Given the description of an element on the screen output the (x, y) to click on. 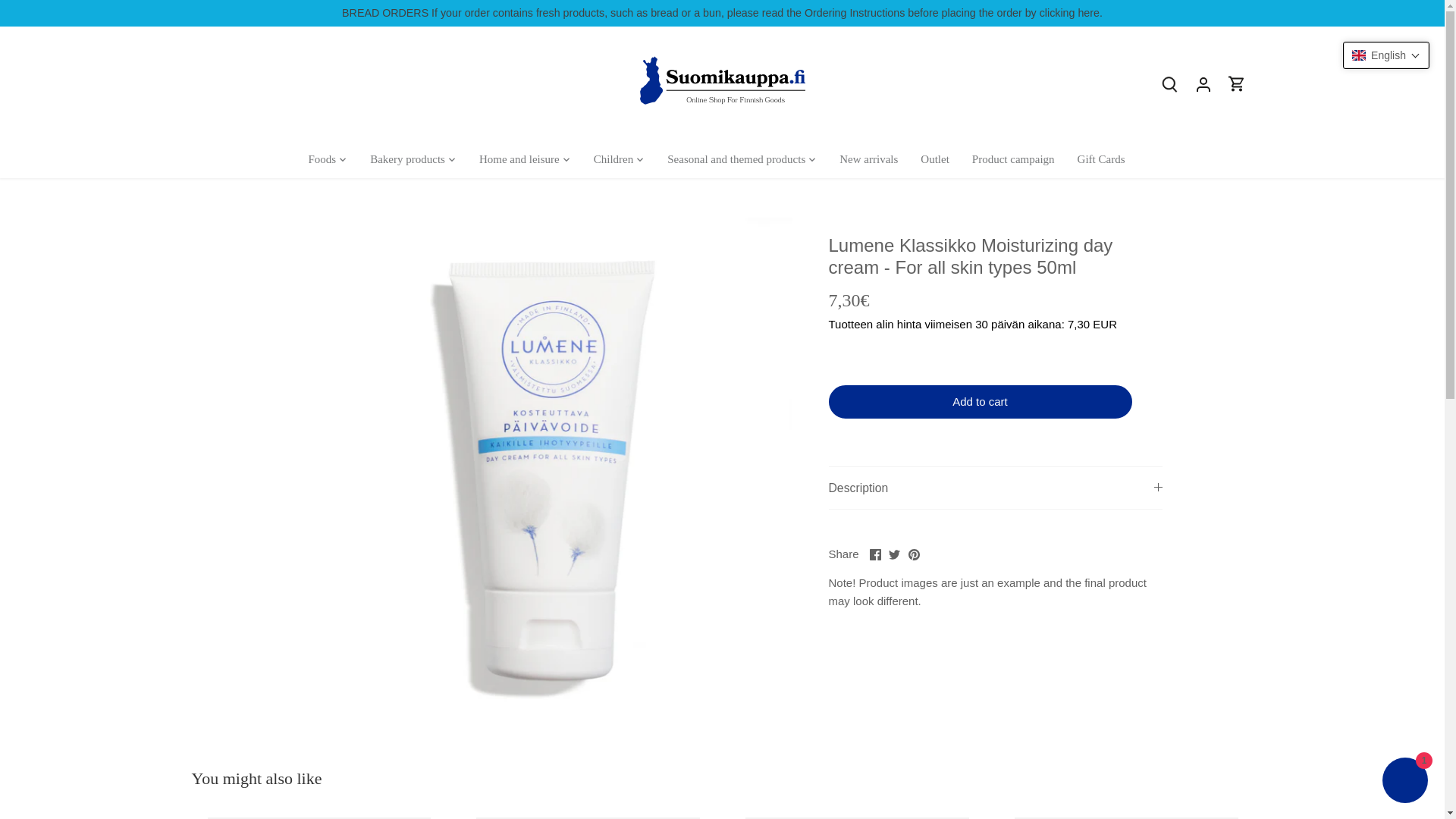
Foods (327, 159)
Twitter (893, 554)
Home and leisure (518, 159)
Go to cart (1236, 83)
Pinterest (914, 554)
Bakery products (407, 159)
Facebook (874, 554)
